Given the description of an element on the screen output the (x, y) to click on. 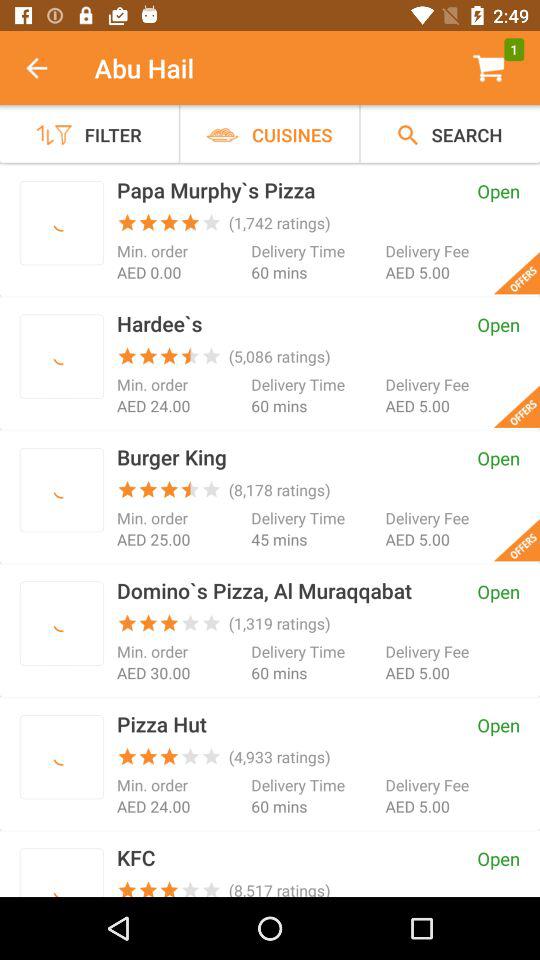
check photo (61, 356)
